Given the description of an element on the screen output the (x, y) to click on. 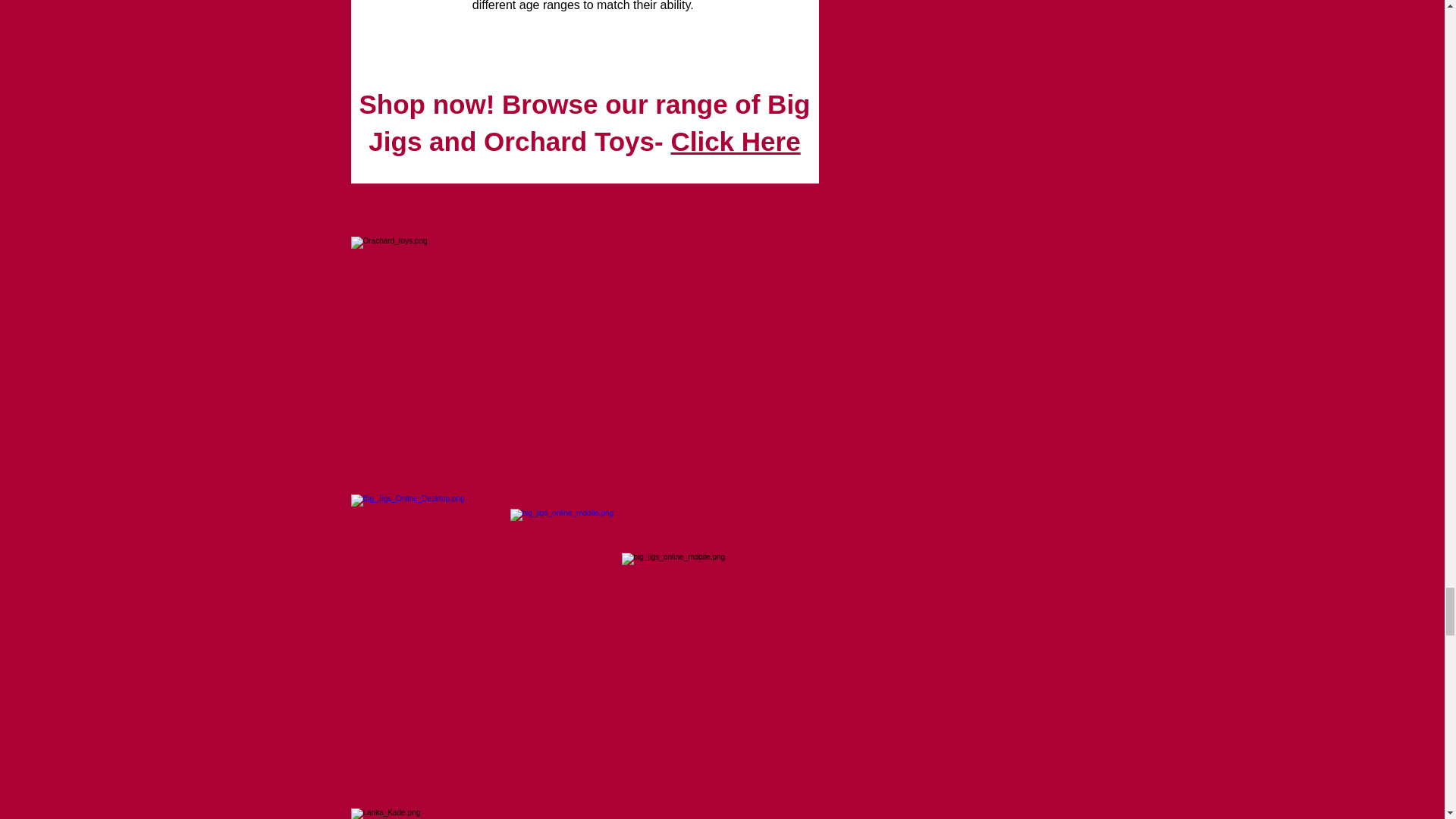
Click Here (734, 141)
